Given the description of an element on the screen output the (x, y) to click on. 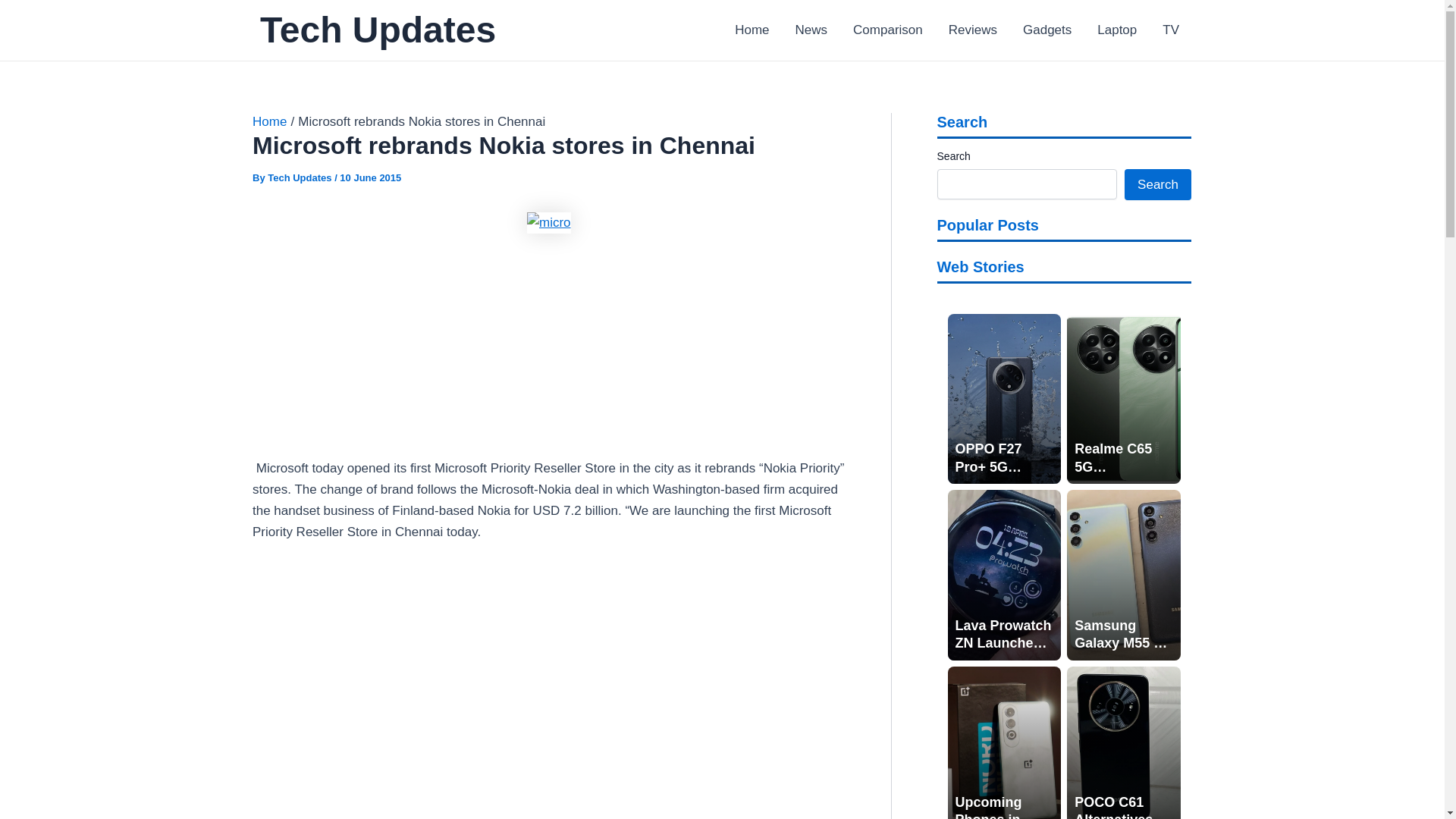
Home (751, 30)
Laptop (1117, 30)
Search (1157, 183)
Reviews (973, 30)
Comparison (888, 30)
Microsoft rebrands Nokia stores in Chennai 1 (548, 222)
Home (268, 121)
View all posts by Tech Updates (300, 177)
News (812, 30)
TV (1171, 30)
Advertisement (548, 345)
Tech Updates (300, 177)
Gadgets (1047, 30)
